Given the description of an element on the screen output the (x, y) to click on. 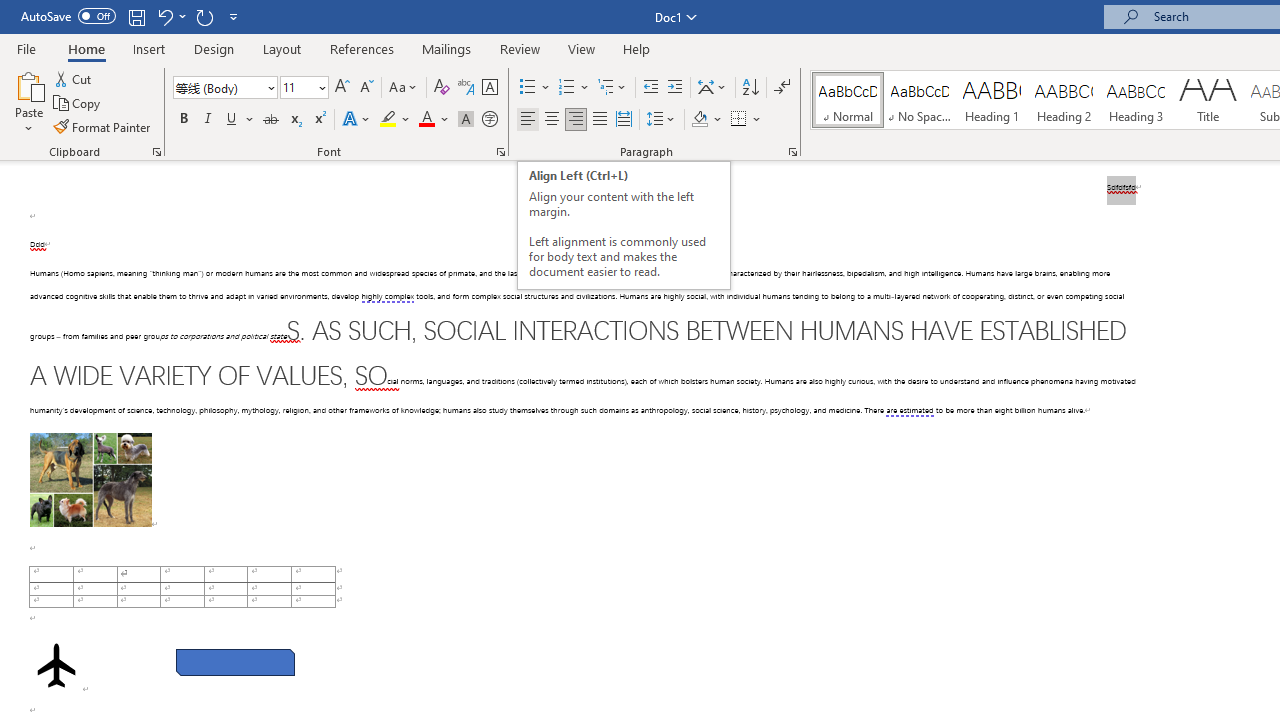
Heading 3 (1135, 100)
